Given the description of an element on the screen output the (x, y) to click on. 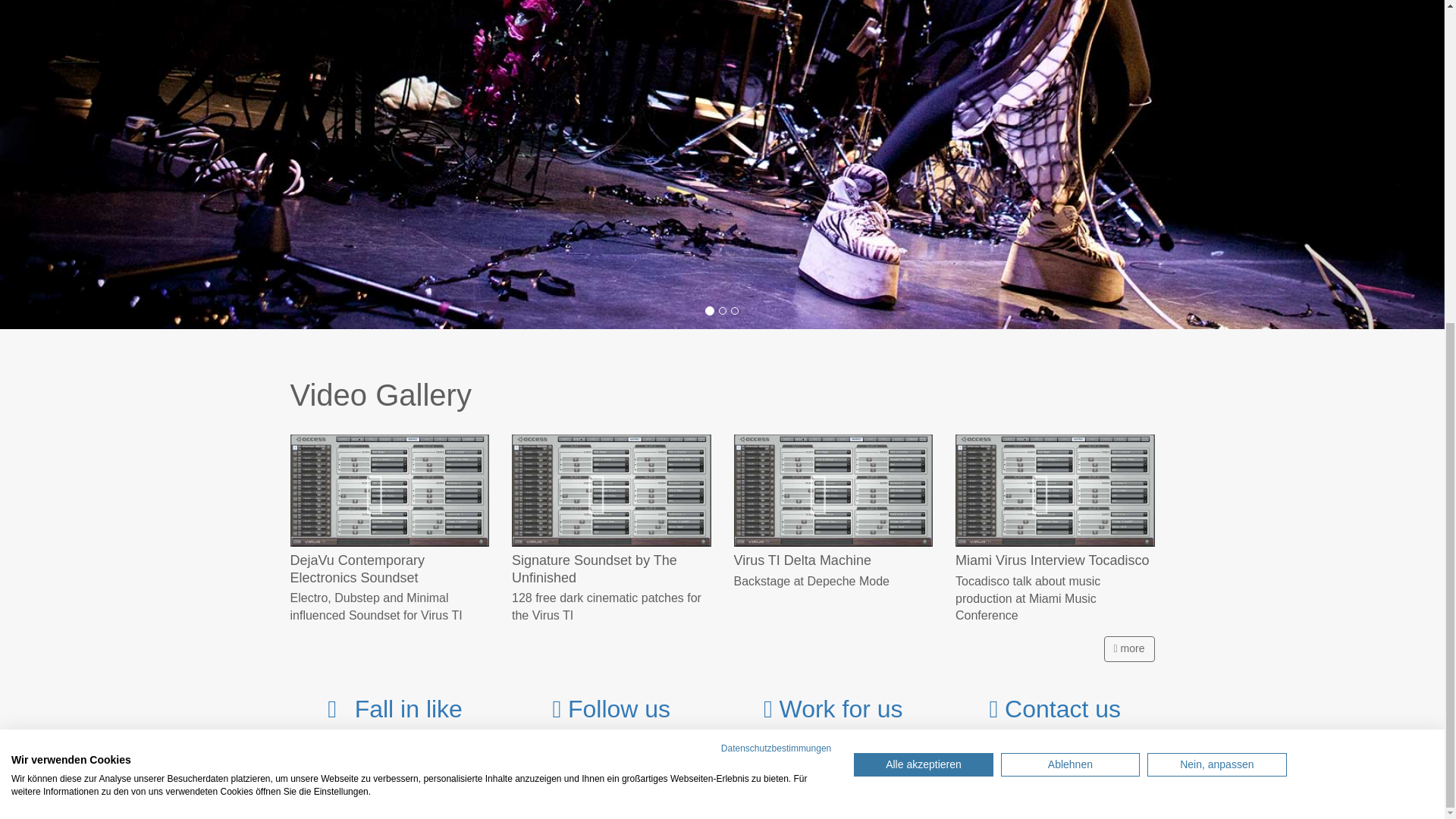
Fall in like (390, 708)
more (1128, 648)
Contact us: Customer support and help (1054, 708)
Follow us (610, 708)
Company: About Access Music (832, 708)
